Given the description of an element on the screen output the (x, y) to click on. 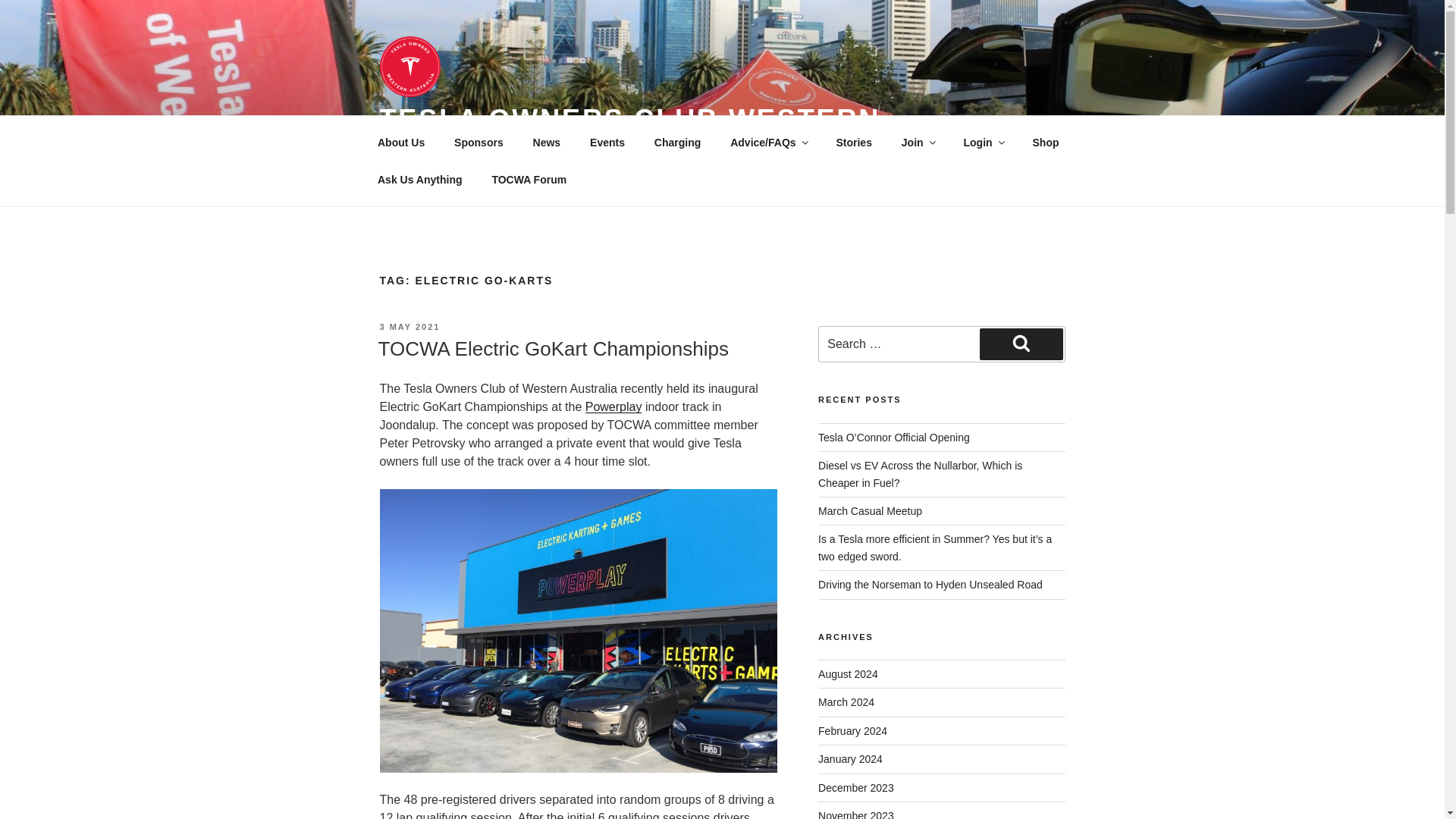
Events (607, 142)
Stories (853, 142)
March Casual Meetup (869, 510)
Login (983, 142)
Charging (676, 142)
Powerplay (613, 406)
3 MAY 2021 (408, 326)
Sponsors (478, 142)
TESLA OWNERS CLUB WESTERN AUSTRALIA (629, 136)
Shop (1045, 142)
